Given the description of an element on the screen output the (x, y) to click on. 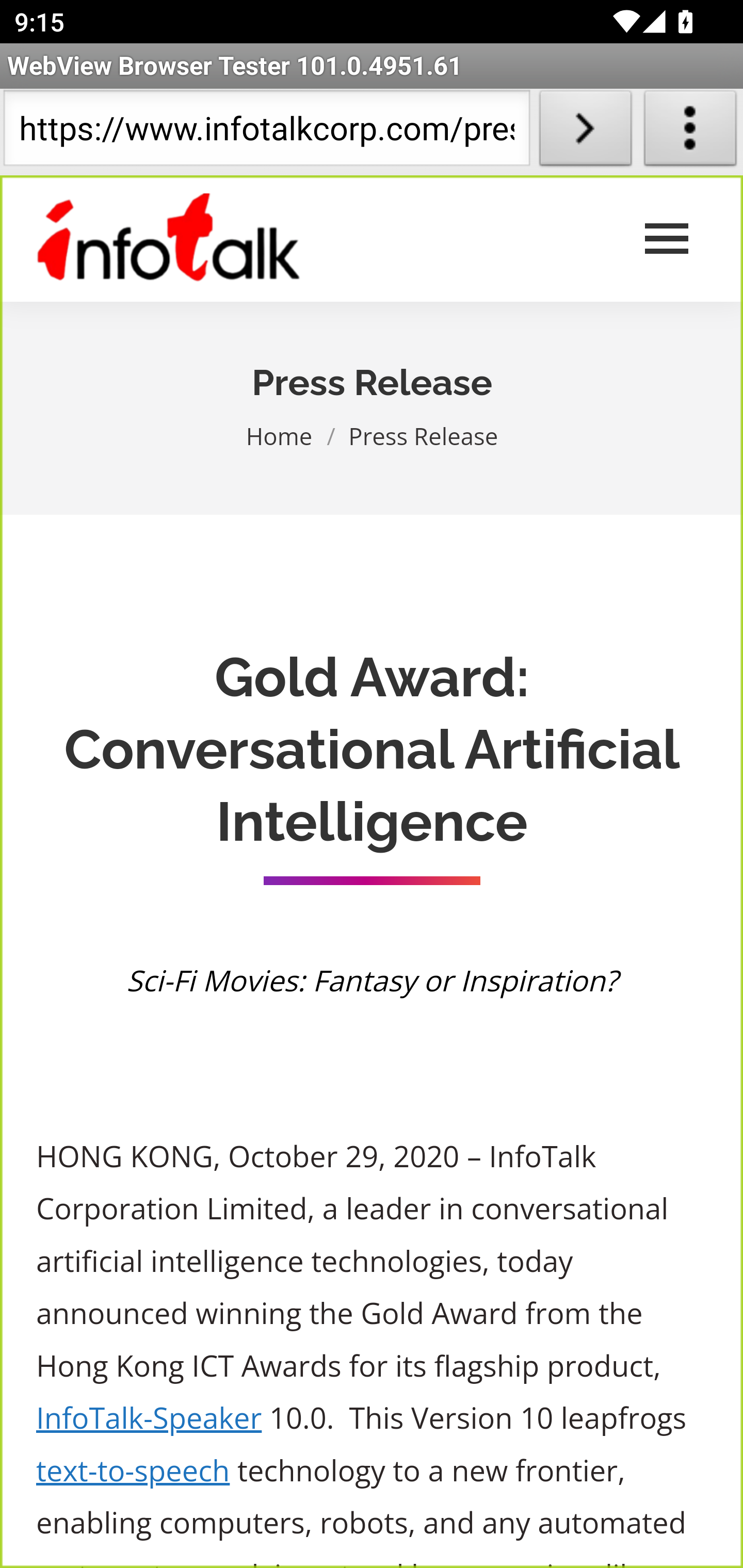
Load URL (585, 132)
About WebView (690, 132)
InfoTalk Corporation (169, 238)
Mobile menu icon (666, 238)
Home (279, 435)
InfoTalk-Speaker (149, 1418)
text-to-speech (133, 1470)
